Given the description of an element on the screen output the (x, y) to click on. 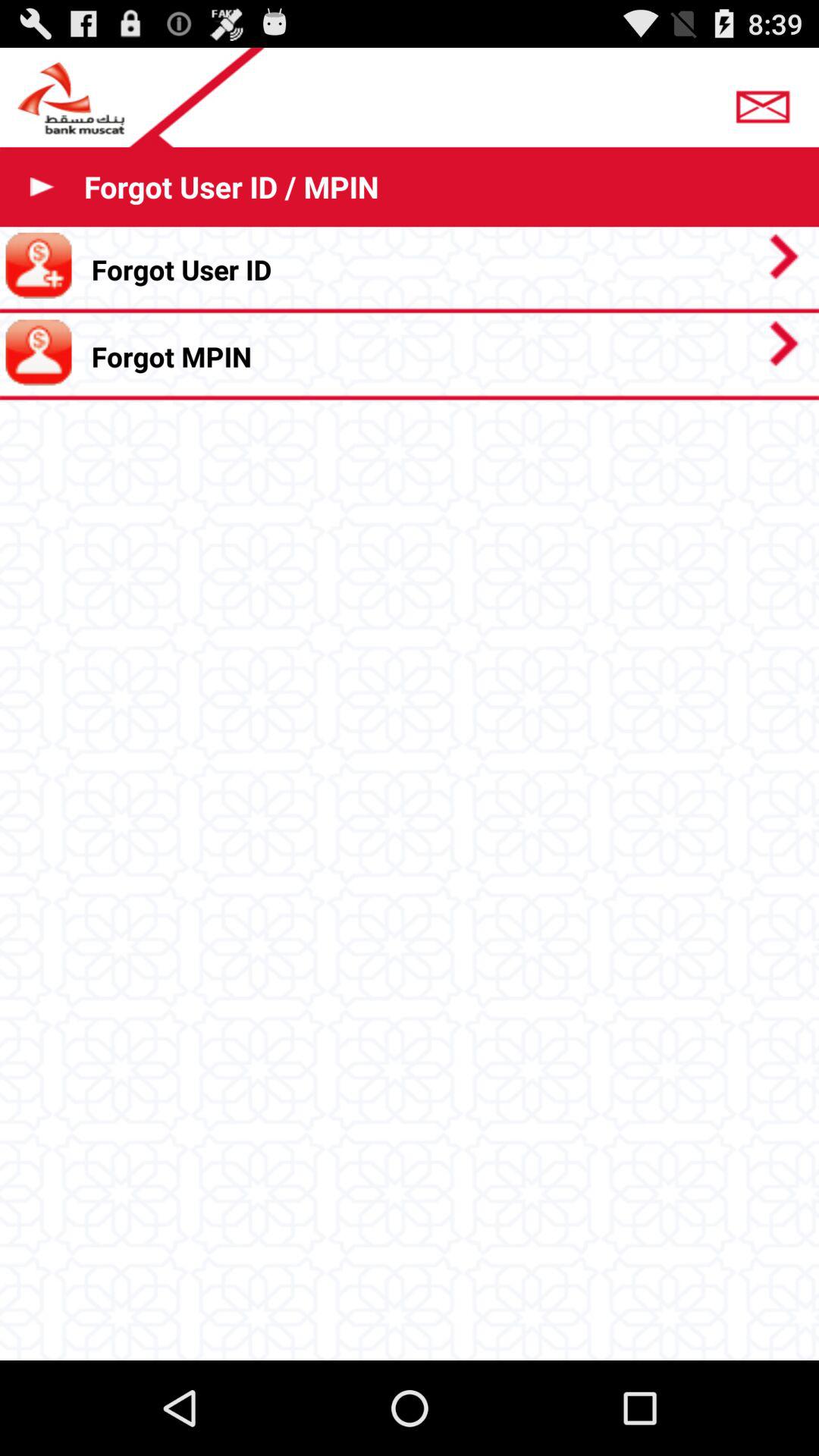
email bank (767, 101)
